Given the description of an element on the screen output the (x, y) to click on. 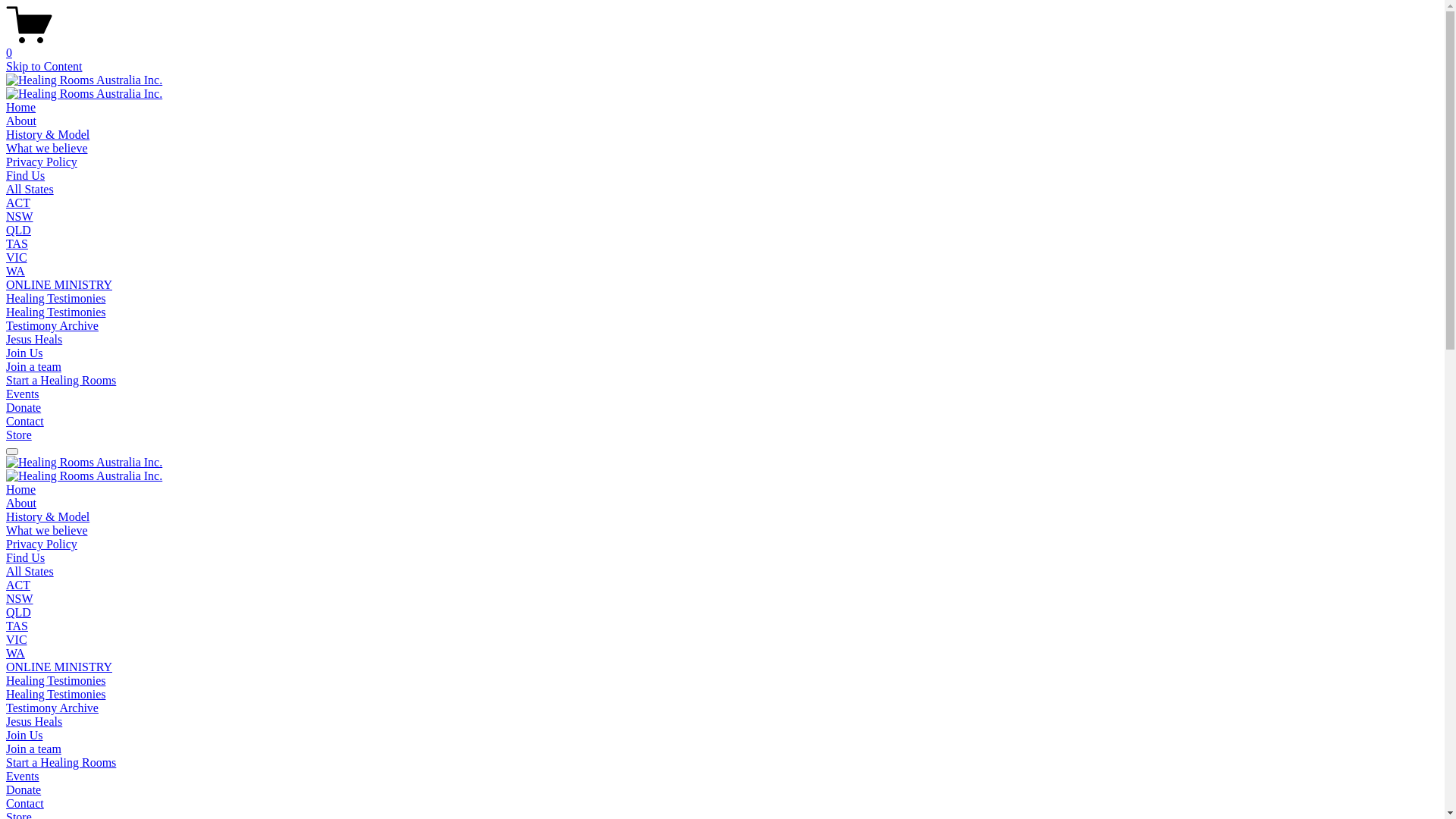
Healing Testimonies Element type: text (55, 297)
Join Us Element type: text (24, 734)
History & Model Element type: text (47, 134)
WA Element type: text (15, 270)
Join a team Element type: text (33, 366)
Contact Element type: text (24, 420)
Healing Testimonies Element type: text (55, 311)
Start a Healing Rooms Element type: text (61, 762)
Start a Healing Rooms Element type: text (61, 379)
Find Us Element type: text (25, 557)
Jesus Heals Element type: text (34, 338)
WA Element type: text (15, 652)
NSW Element type: text (19, 598)
ACT Element type: text (18, 584)
ONLINE MINISTRY Element type: text (59, 666)
TAS Element type: text (17, 243)
About Element type: text (21, 502)
ONLINE MINISTRY Element type: text (59, 284)
Events Element type: text (22, 393)
Contact Element type: text (24, 803)
Home Element type: text (20, 106)
VIC Element type: text (16, 639)
What we believe Element type: text (46, 147)
What we believe Element type: text (46, 530)
Healing Testimonies Element type: text (55, 693)
Testimony Archive Element type: text (52, 325)
Privacy Policy Element type: text (41, 543)
Join a team Element type: text (33, 748)
History & Model Element type: text (47, 516)
Events Element type: text (22, 775)
Home Element type: text (20, 489)
Skip to Content Element type: text (43, 65)
Find Us Element type: text (25, 175)
About Element type: text (21, 120)
VIC Element type: text (16, 257)
All States Element type: text (29, 188)
ACT Element type: text (18, 202)
Donate Element type: text (23, 789)
NSW Element type: text (19, 216)
Store Element type: text (18, 434)
Jesus Heals Element type: text (34, 721)
Testimony Archive Element type: text (52, 707)
QLD Element type: text (18, 611)
Join Us Element type: text (24, 352)
Privacy Policy Element type: text (41, 161)
Donate Element type: text (23, 407)
TAS Element type: text (17, 625)
QLD Element type: text (18, 229)
All States Element type: text (29, 570)
Healing Testimonies Element type: text (55, 680)
0 Element type: text (722, 45)
